Given the description of an element on the screen output the (x, y) to click on. 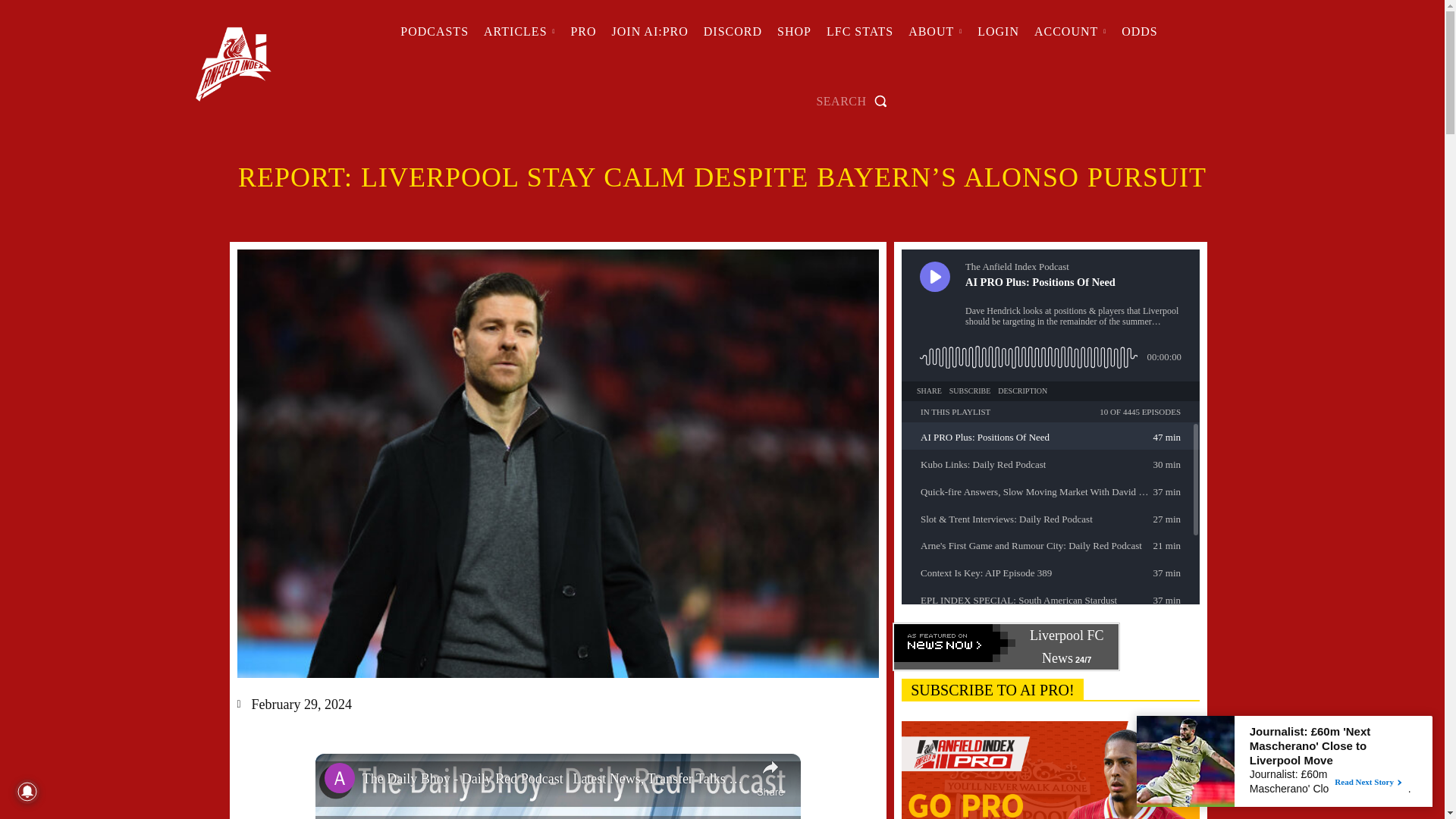
JOIN AI:PRO (649, 31)
ABOUT (935, 31)
DISCORD (732, 31)
LFC STATS (859, 31)
Check out Empire Of The Kop! (732, 31)
SHOP (794, 31)
PRO (583, 31)
PODCASTS (434, 31)
ARTICLES (519, 31)
